Given the description of an element on the screen output the (x, y) to click on. 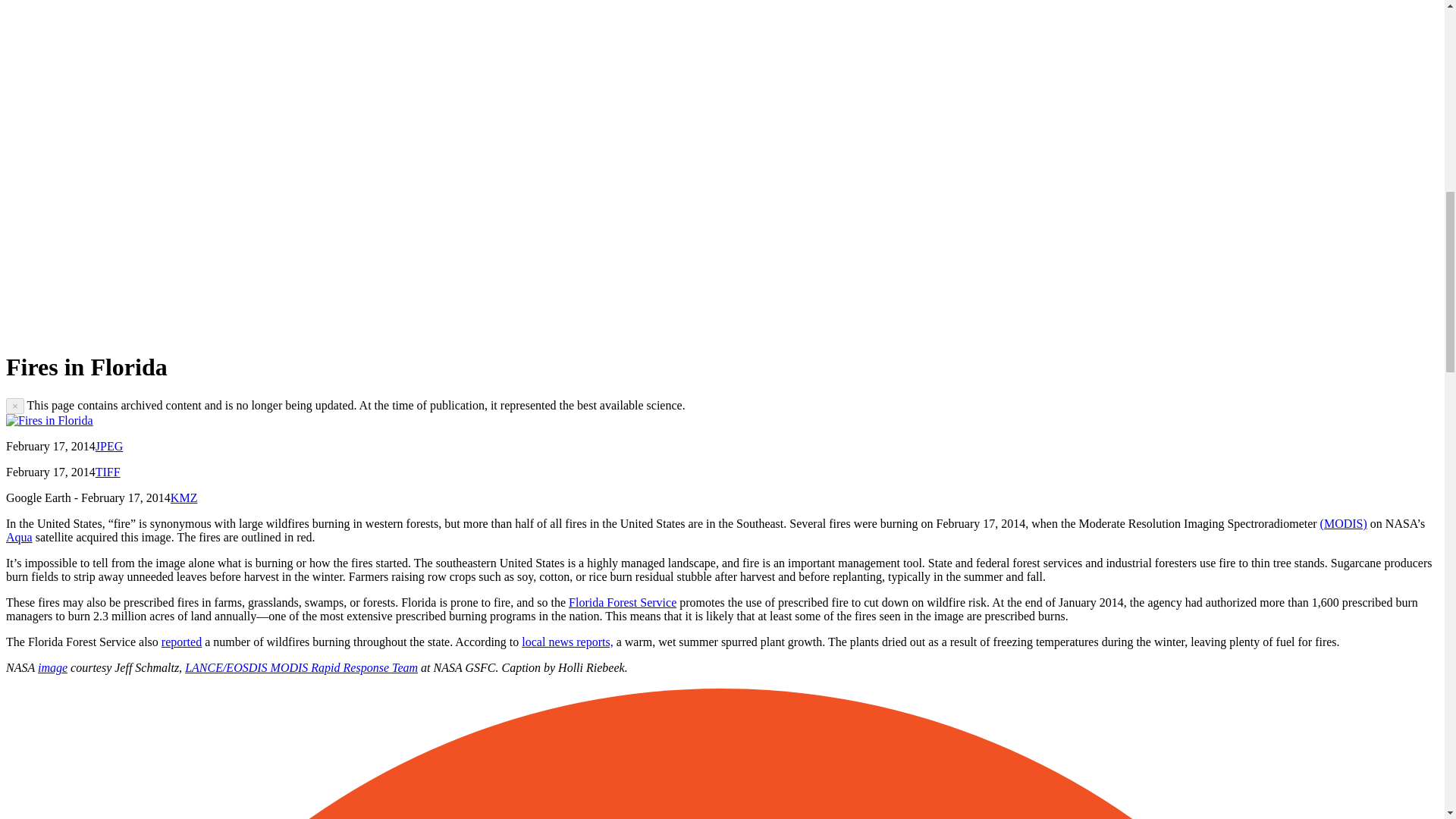
Share (161, 329)
Print (510, 329)
